Given the description of an element on the screen output the (x, y) to click on. 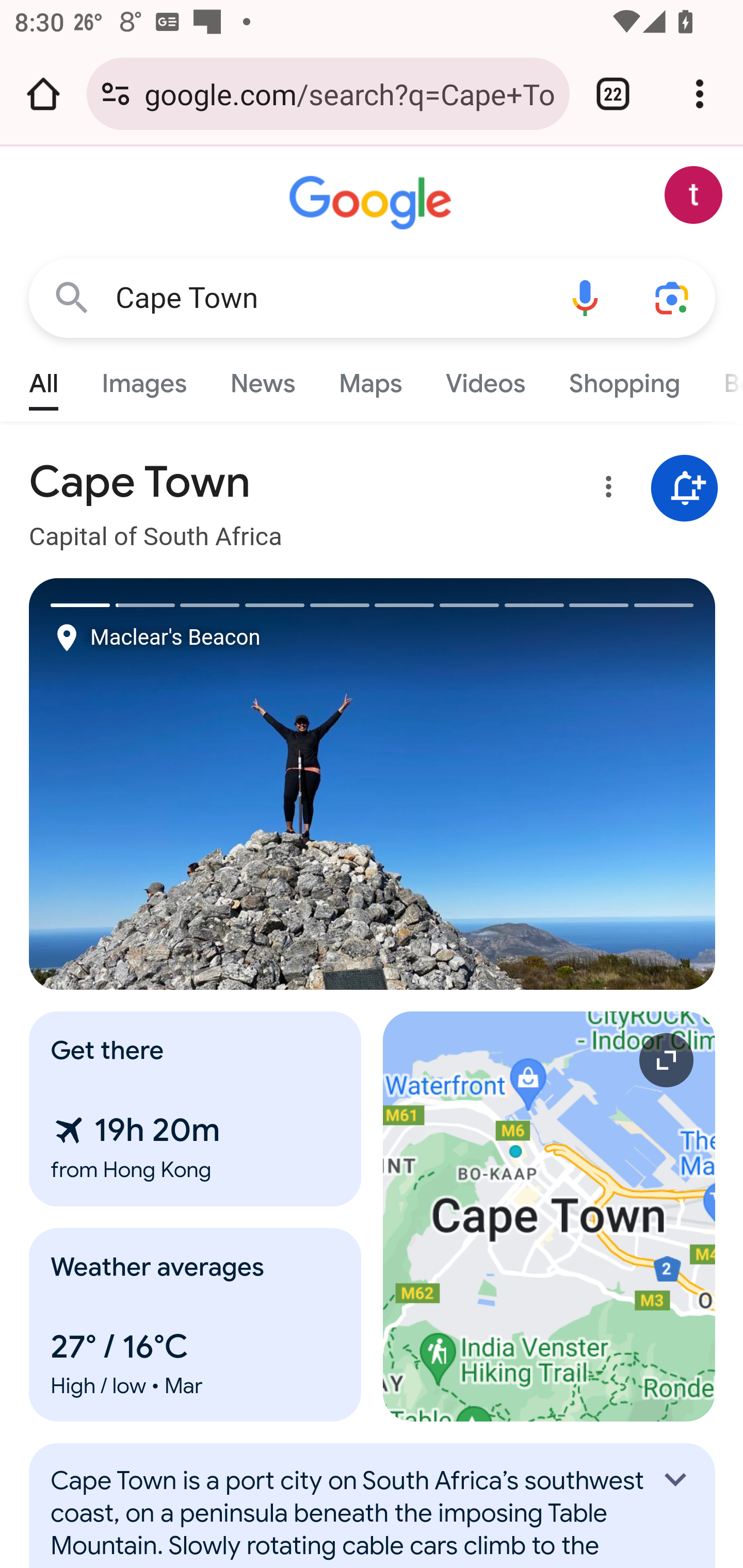
Open the home page (43, 93)
Connection is secure (115, 93)
Switch or close tabs (612, 93)
Customize and control Google Chrome (699, 93)
Google (372, 203)
Google Search (71, 296)
Search using your camera or photos (672, 296)
Cape Town (328, 297)
Images (144, 378)
News (262, 378)
Maps (369, 378)
Videos (485, 378)
Shopping (623, 378)
Get notifications about Cape Town (684, 489)
More options (605, 489)
Previous image (200, 783)
Next image (544, 783)
Expand map (549, 1216)
Weather averages 27° / 16°C High / low • Mar (195, 1324)
